Given the description of an element on the screen output the (x, y) to click on. 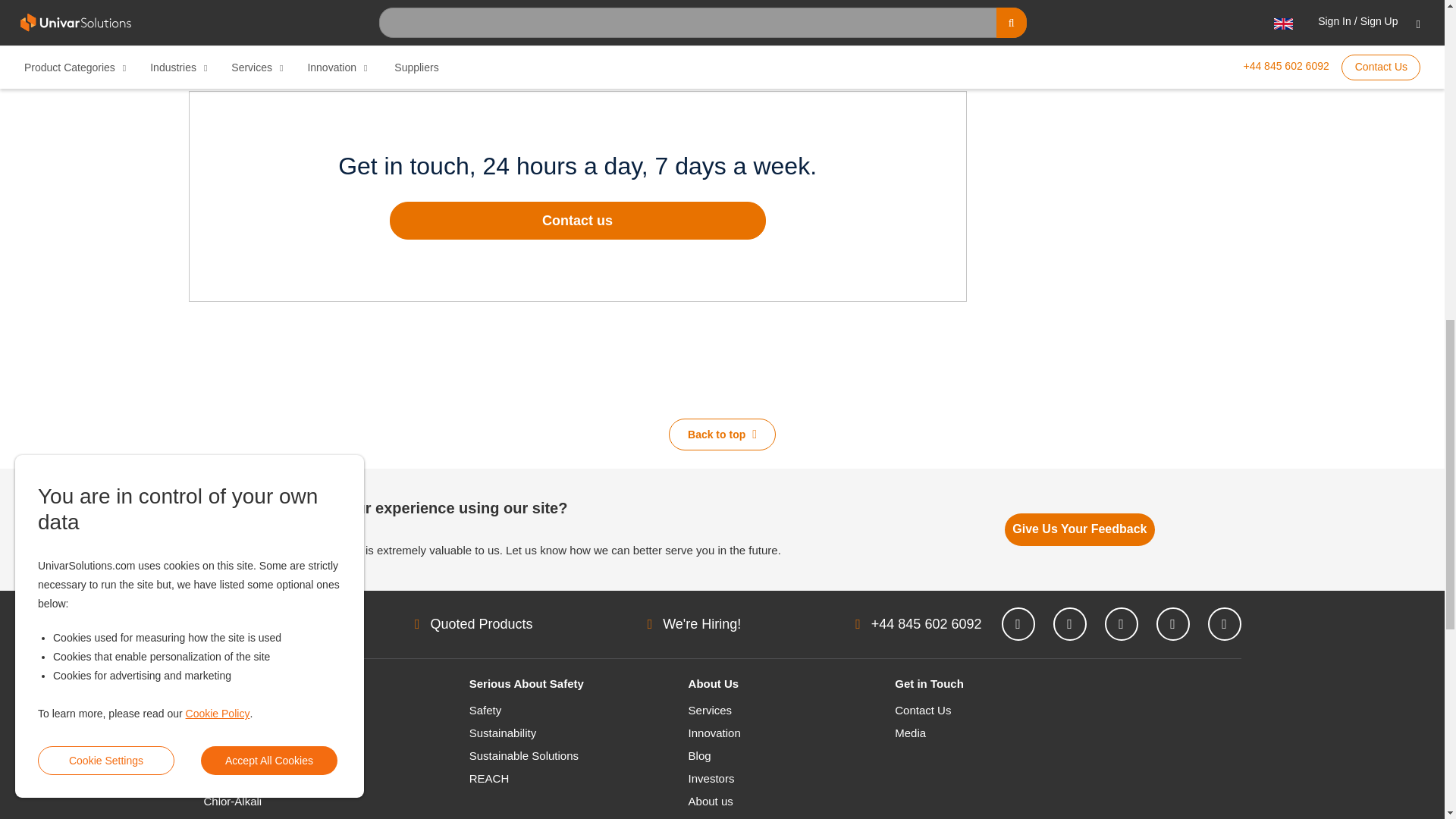
Back to top (722, 434)
